Given the description of an element on the screen output the (x, y) to click on. 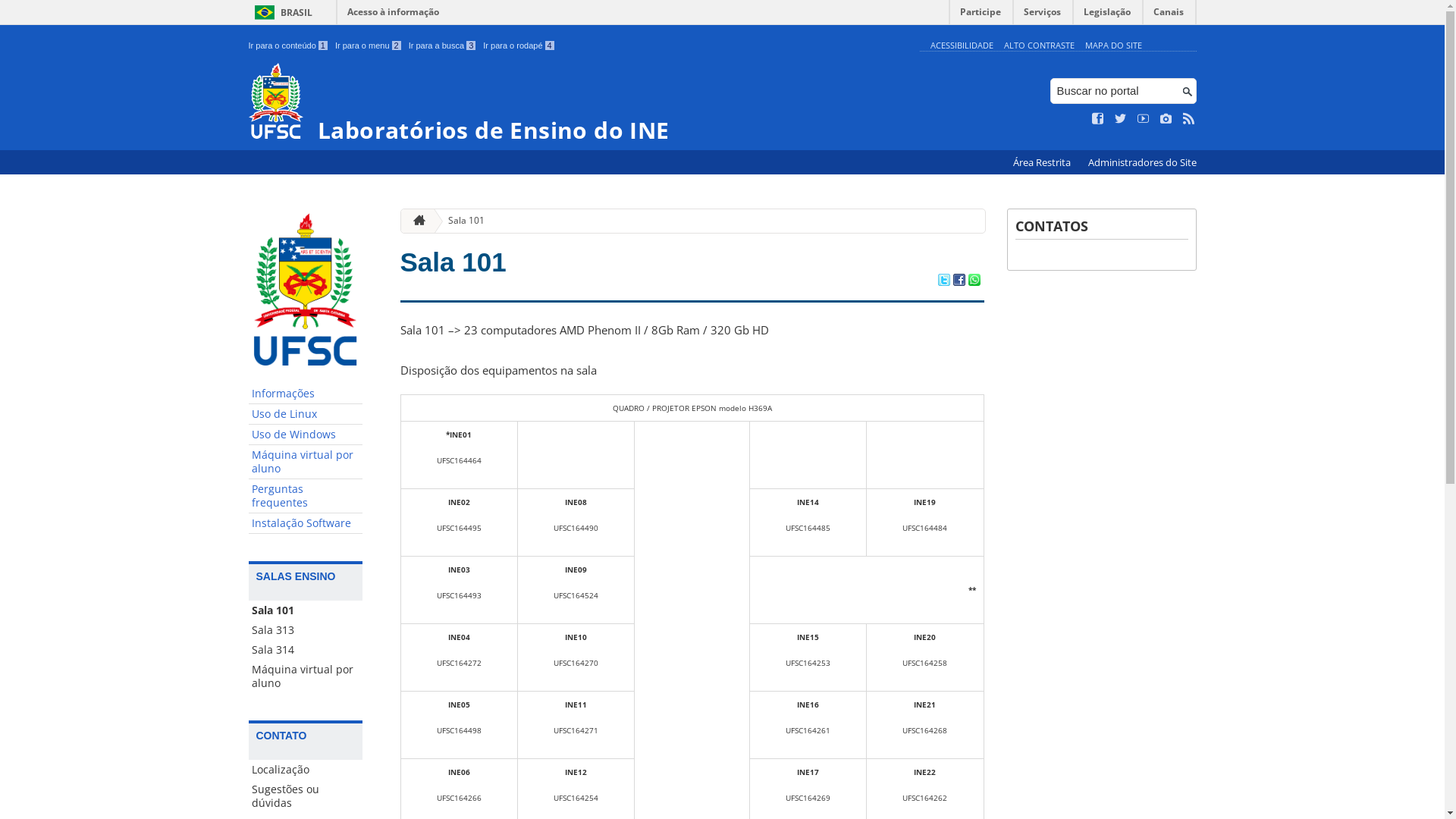
Compartilhar no Facebook Element type: hover (958, 280)
Canais Element type: text (1169, 15)
Siga no Twitter Element type: hover (1120, 118)
Uso de Linux Element type: text (305, 414)
Sala 314 Element type: text (305, 649)
Sala 101 Element type: text (459, 220)
Ir para o menu 2 Element type: text (368, 45)
Sala 101 Element type: text (305, 610)
Participe Element type: text (980, 15)
Perguntas frequentes Element type: text (305, 496)
Veja no Instagram Element type: hover (1166, 118)
Sala 101 Element type: text (453, 261)
ACESSIBILIDADE Element type: text (960, 44)
ALTO CONTRASTE Element type: text (1039, 44)
Ir para a busca 3 Element type: text (442, 45)
Administradores do Site Element type: text (1141, 162)
Compartilhar no WhatsApp Element type: hover (973, 280)
Sala 313 Element type: text (305, 630)
Compartilhar no Twitter Element type: hover (943, 280)
Curta no Facebook Element type: hover (1098, 118)
BRASIL Element type: text (280, 12)
MAPA DO SITE Element type: text (1112, 44)
Uso de Windows Element type: text (305, 434)
